Given the description of an element on the screen output the (x, y) to click on. 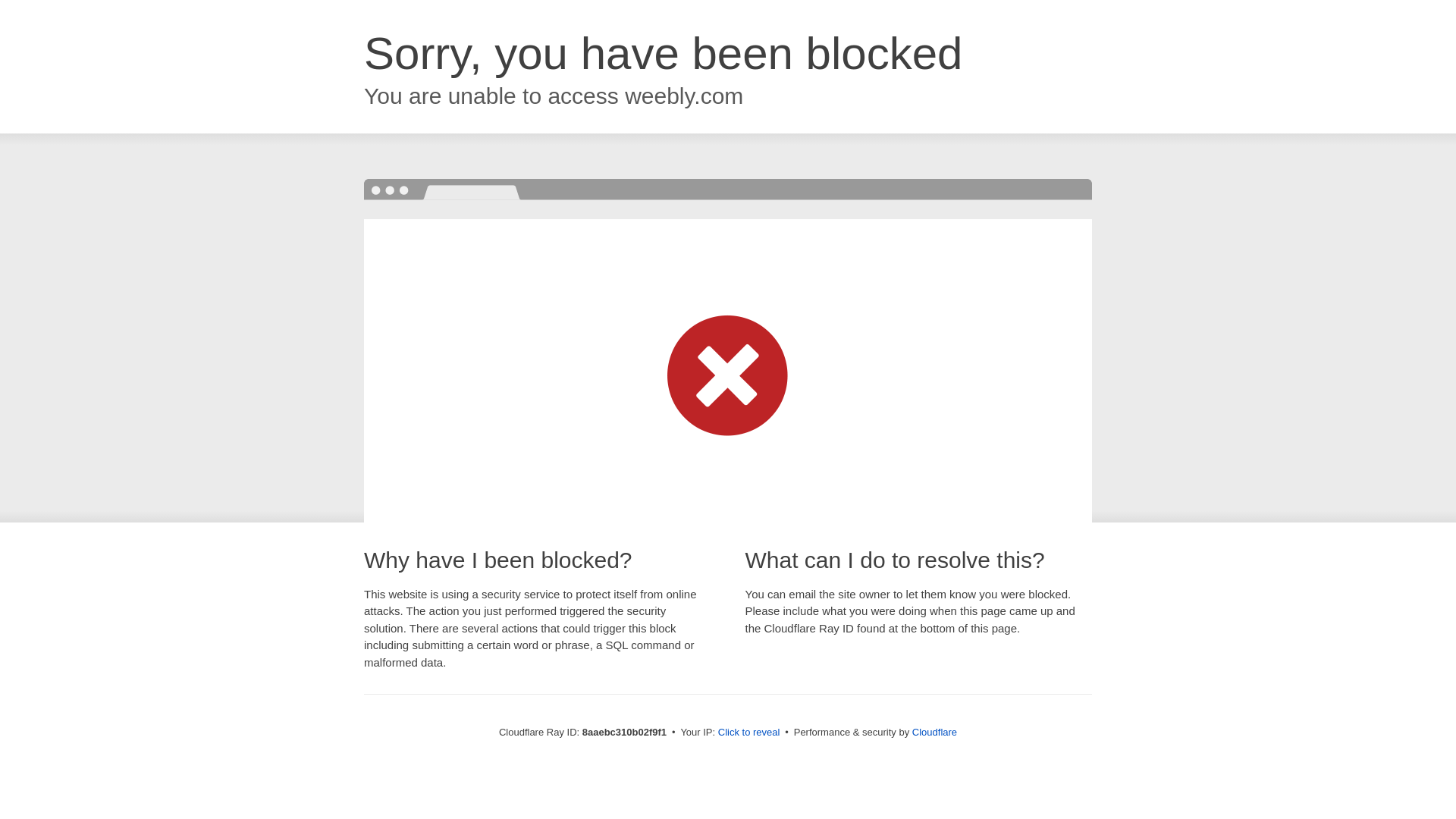
Cloudflare (934, 731)
Click to reveal (748, 732)
